Given the description of an element on the screen output the (x, y) to click on. 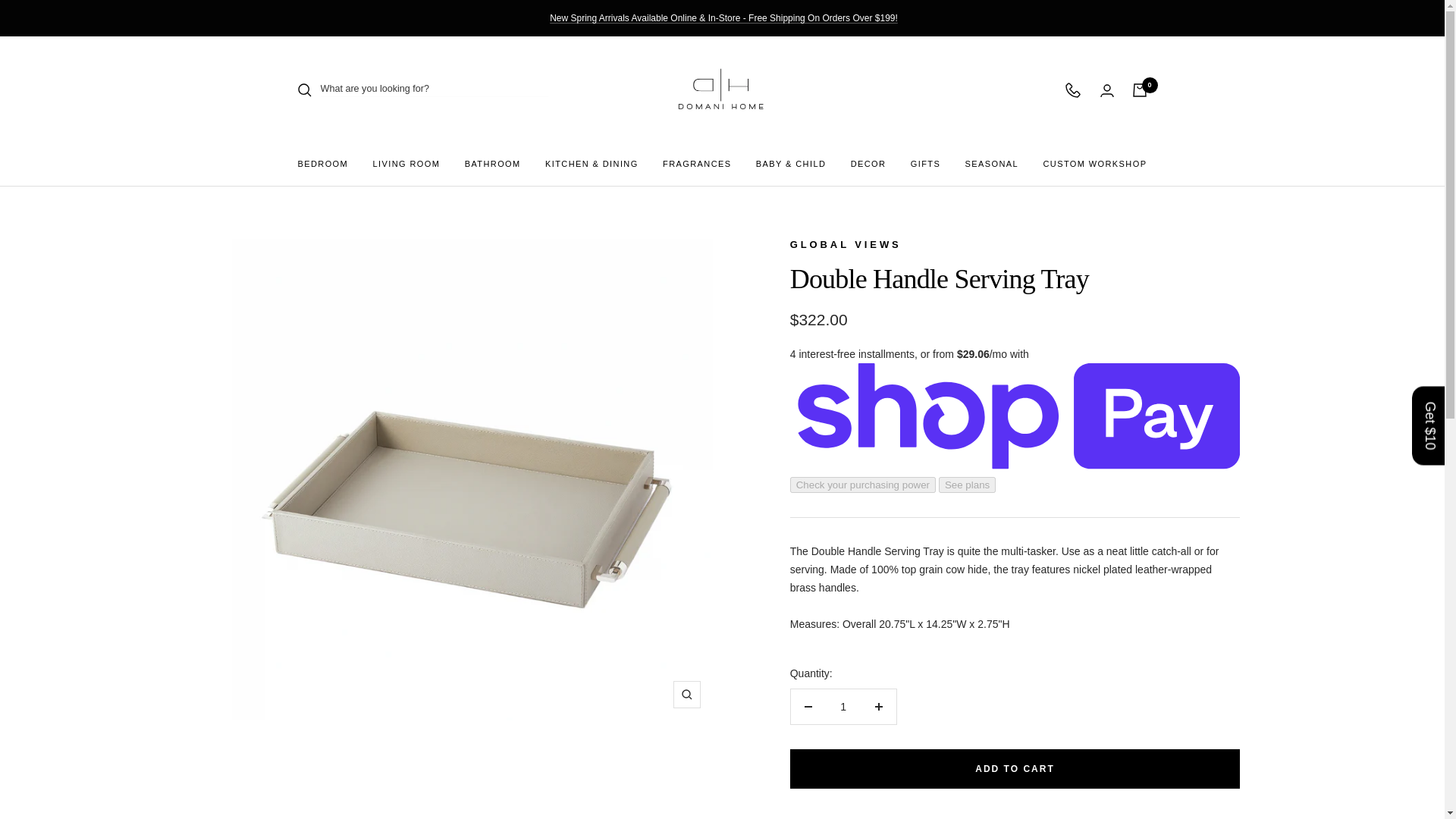
BEDROOM (322, 164)
FRAGRANCES (696, 164)
Increase quantity (878, 706)
CUSTOM WORKSHOP (1094, 164)
Domani Home (721, 89)
Home (157, 212)
1 (843, 706)
Decrease quantity (807, 706)
0 (1139, 90)
ADD TO CART (1015, 768)
Contact us (1071, 90)
BATHROOM (492, 164)
Zoom (686, 694)
LIVING ROOM (406, 164)
GLOBAL VIEWS (845, 244)
